Given the description of an element on the screen output the (x, y) to click on. 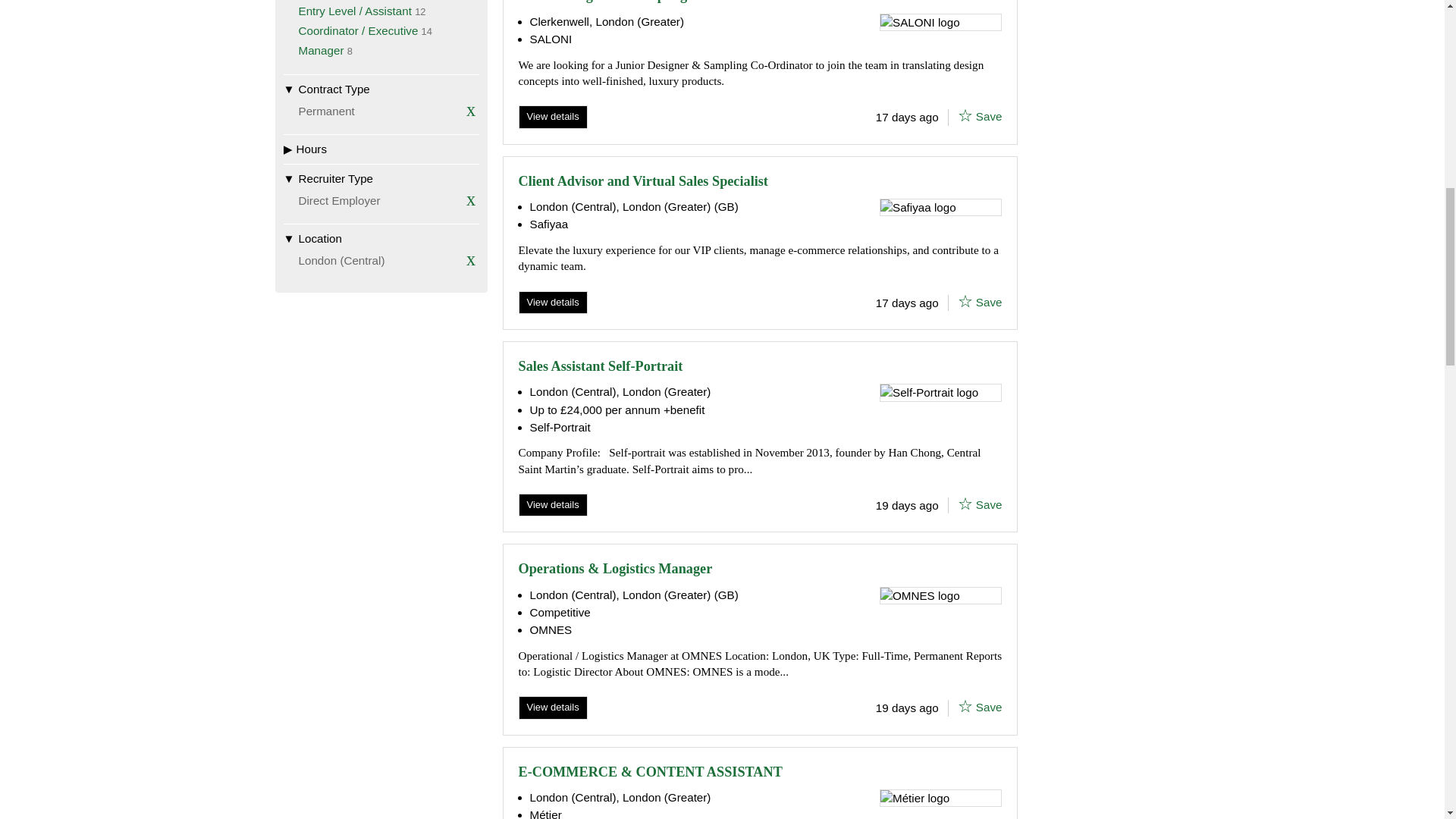
Contract Type (381, 88)
Add to shortlist (965, 115)
Add to shortlist (965, 503)
Add to shortlist (965, 705)
Add to shortlist (965, 300)
Level (381, 1)
Manager (320, 50)
